Given the description of an element on the screen output the (x, y) to click on. 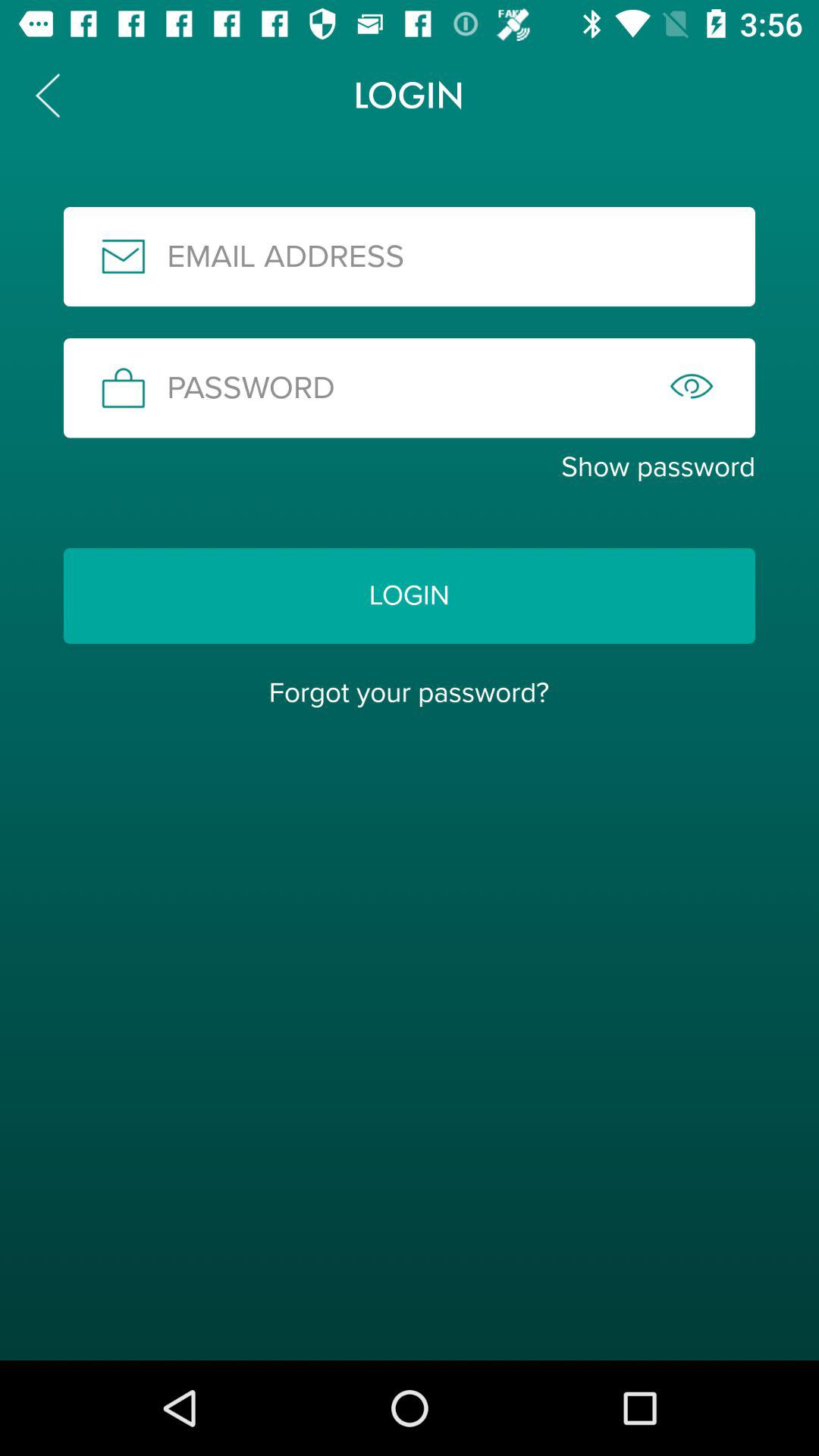
enter your password (409, 387)
